Given the description of an element on the screen output the (x, y) to click on. 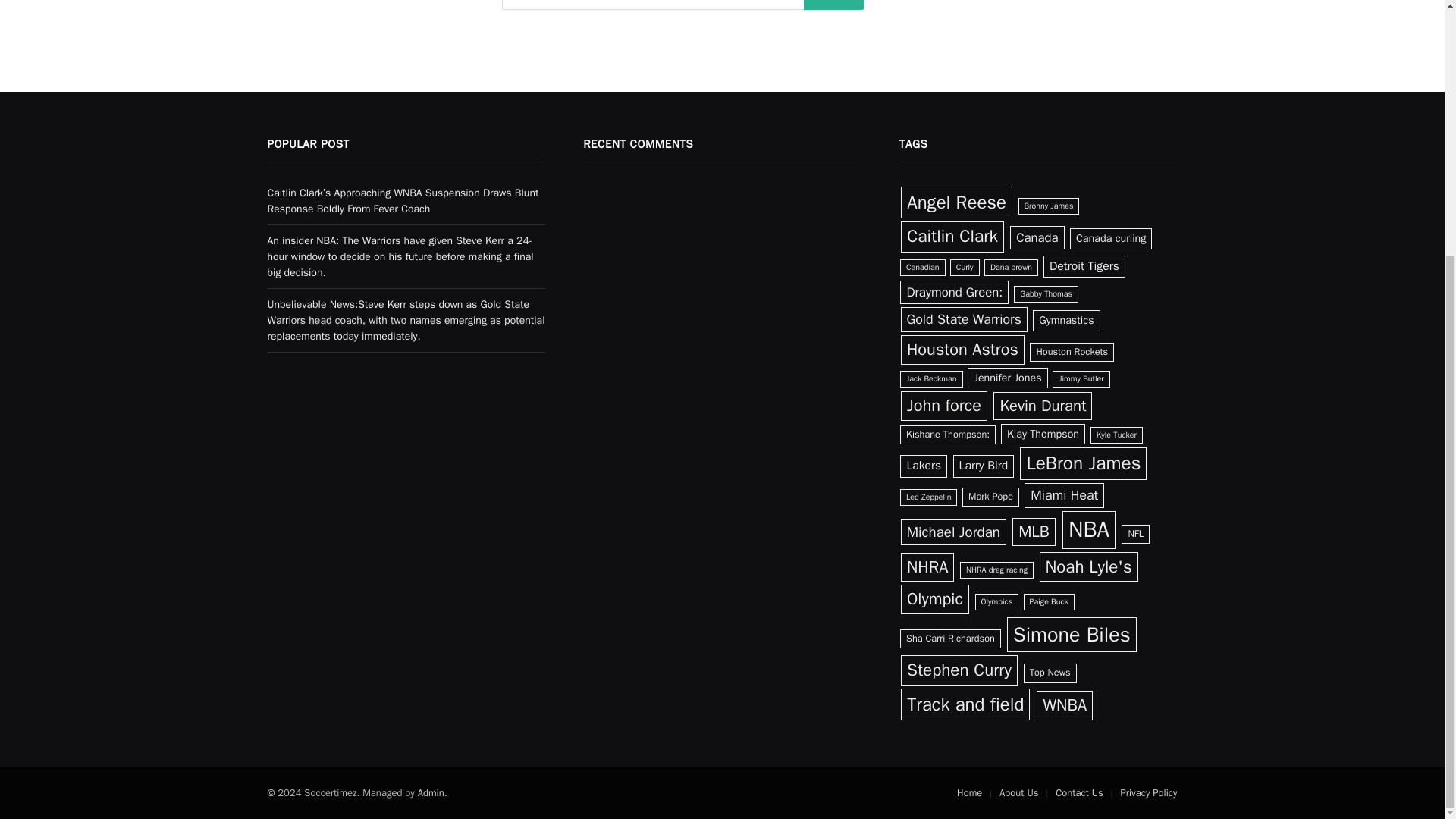
Dana brown (1011, 267)
Draymond Green: (954, 291)
Curly (964, 267)
Search (833, 4)
Canada curling (1111, 238)
Canadian (921, 267)
Search (833, 4)
Search (833, 4)
Bronny James (1047, 206)
Canada (1037, 237)
